Given the description of an element on the screen output the (x, y) to click on. 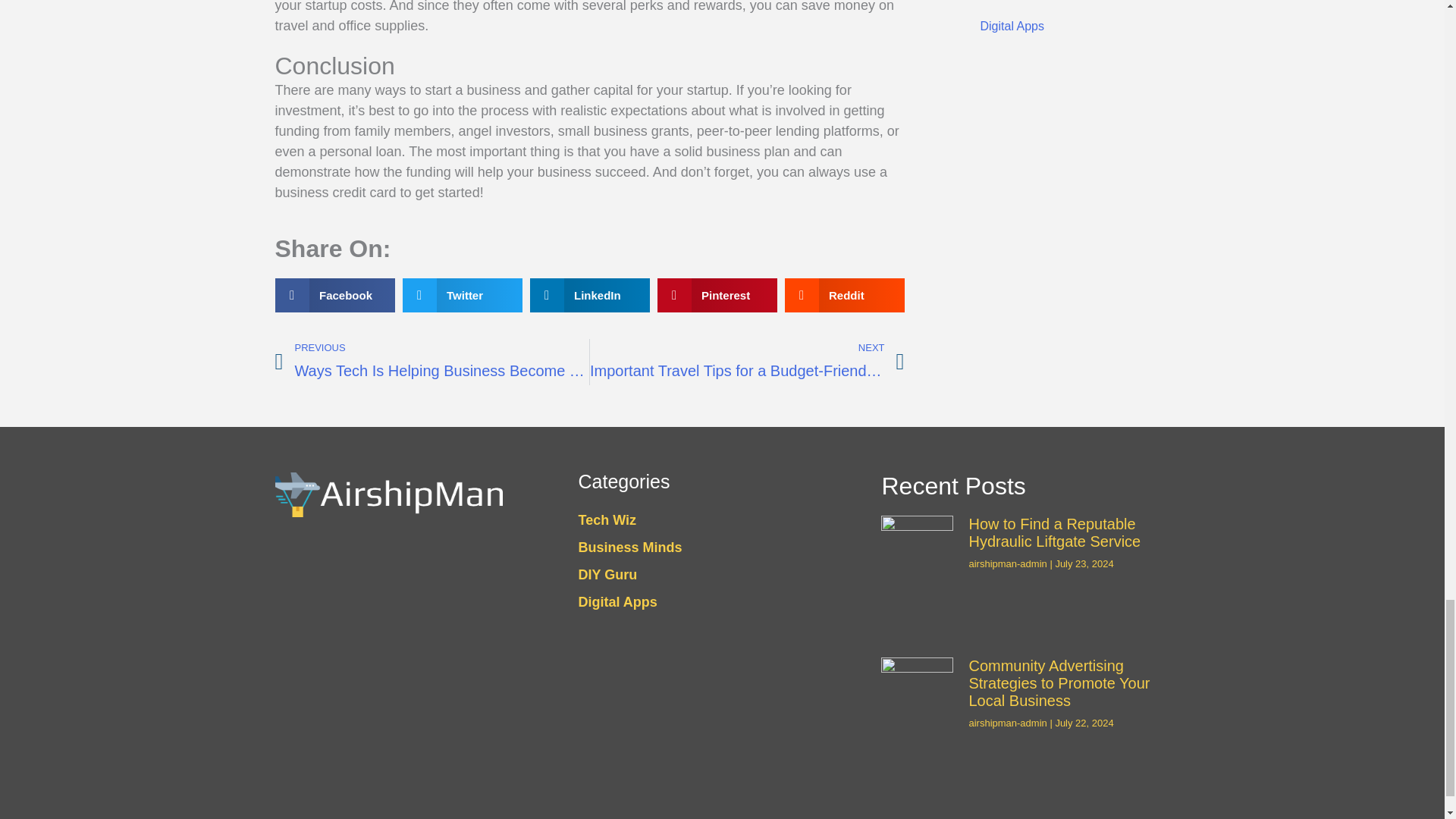
DIY Guru (746, 361)
Digital Apps (1062, 4)
